Given the description of an element on the screen output the (x, y) to click on. 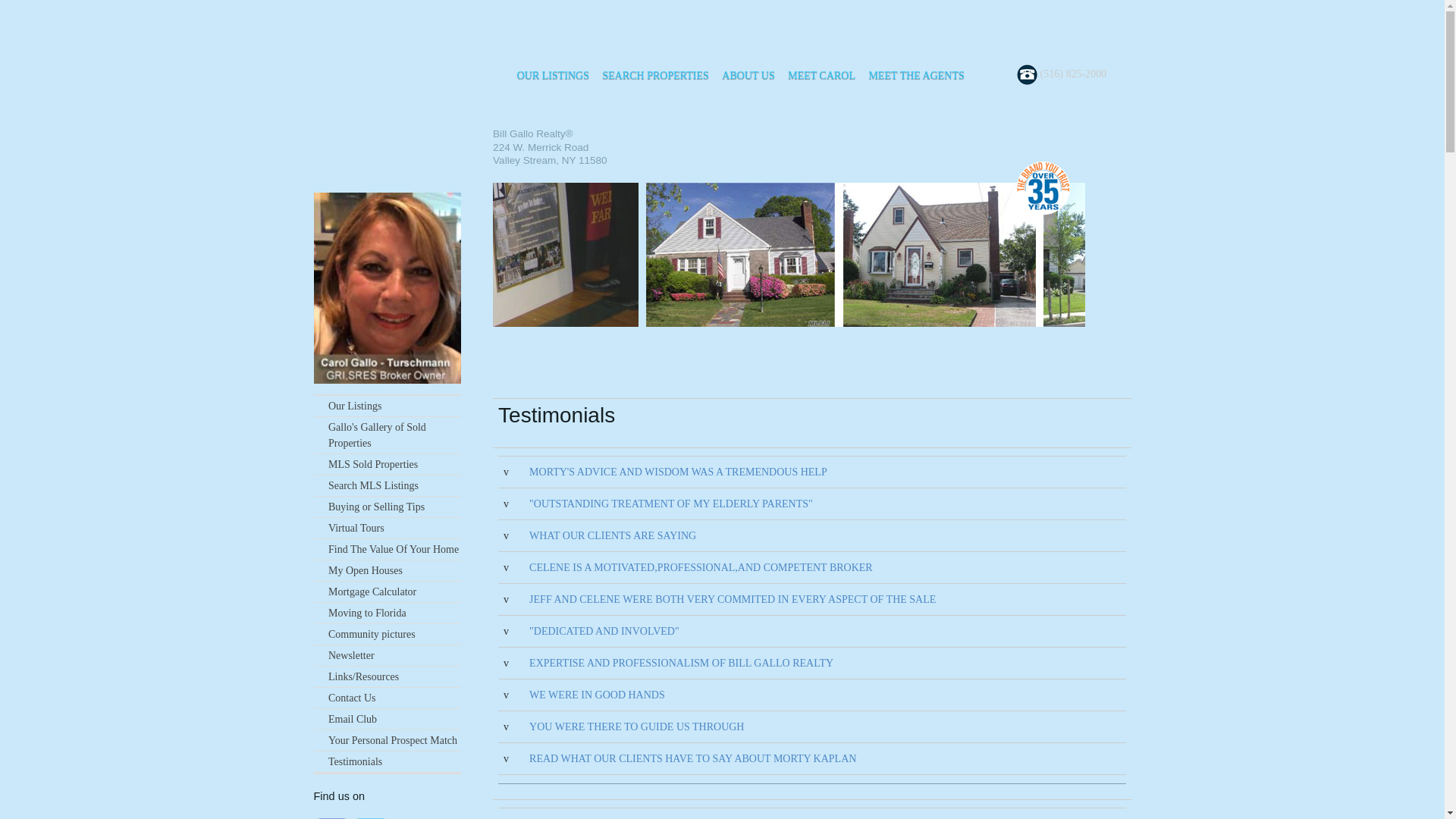
ABOUT US (747, 75)
OUR LISTINGS (553, 75)
Search MLS Listings (387, 485)
Testimonials (387, 762)
Find The Value Of Your Home (387, 549)
Gallo's Gallery of Sold Properties (387, 435)
Virtual Tours (387, 527)
"OUTSTANDING TREATMENT OF MY ELDERLY PARENTS" (670, 503)
Mortgage Calculator (387, 591)
Moving to Florida (387, 613)
